Given the description of an element on the screen output the (x, y) to click on. 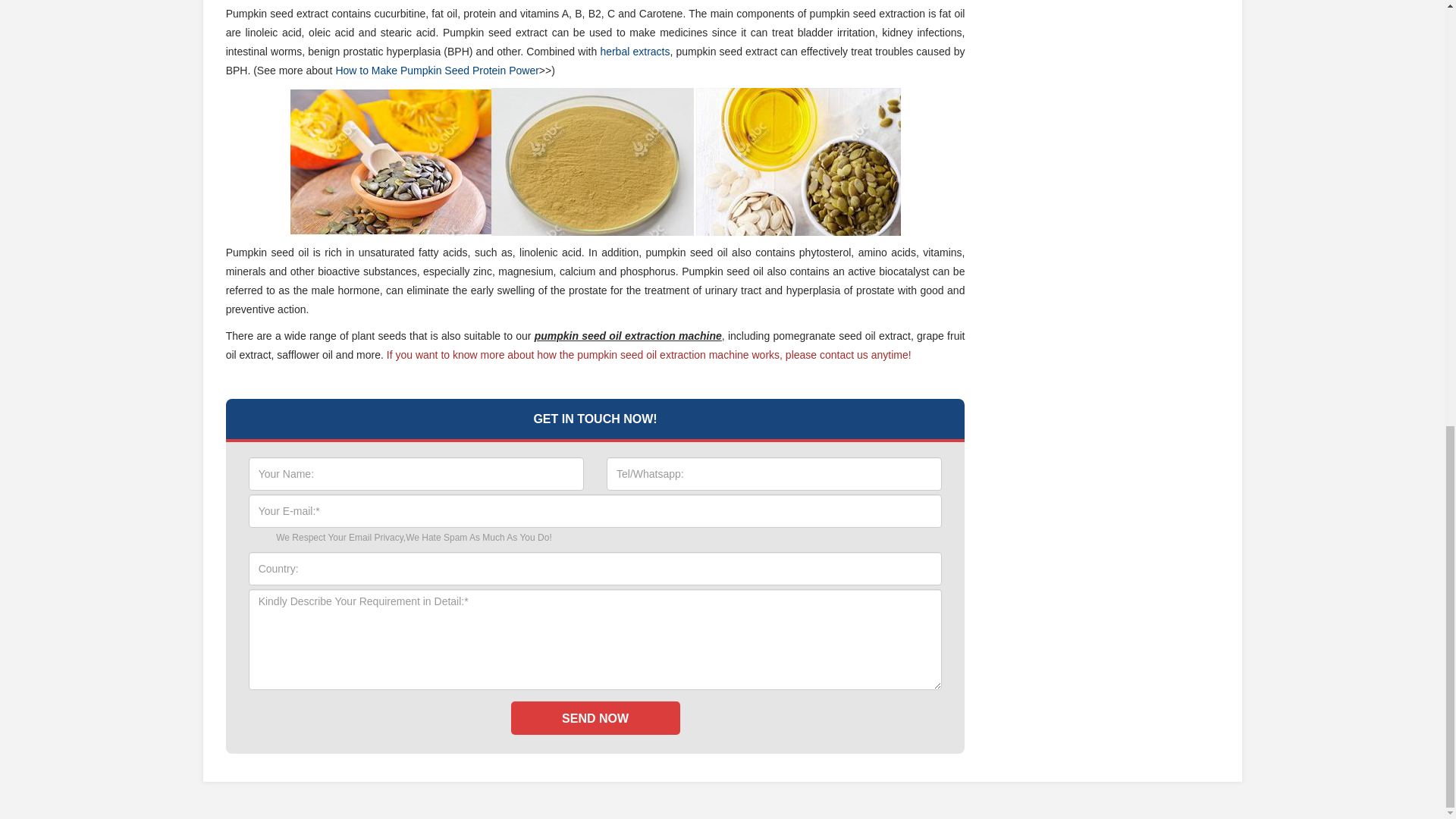
How to Make Pumpkin Seed Protein Power (436, 70)
Send Now (595, 717)
herbal extracts (634, 51)
Send Now (595, 717)
